Given the description of an element on the screen output the (x, y) to click on. 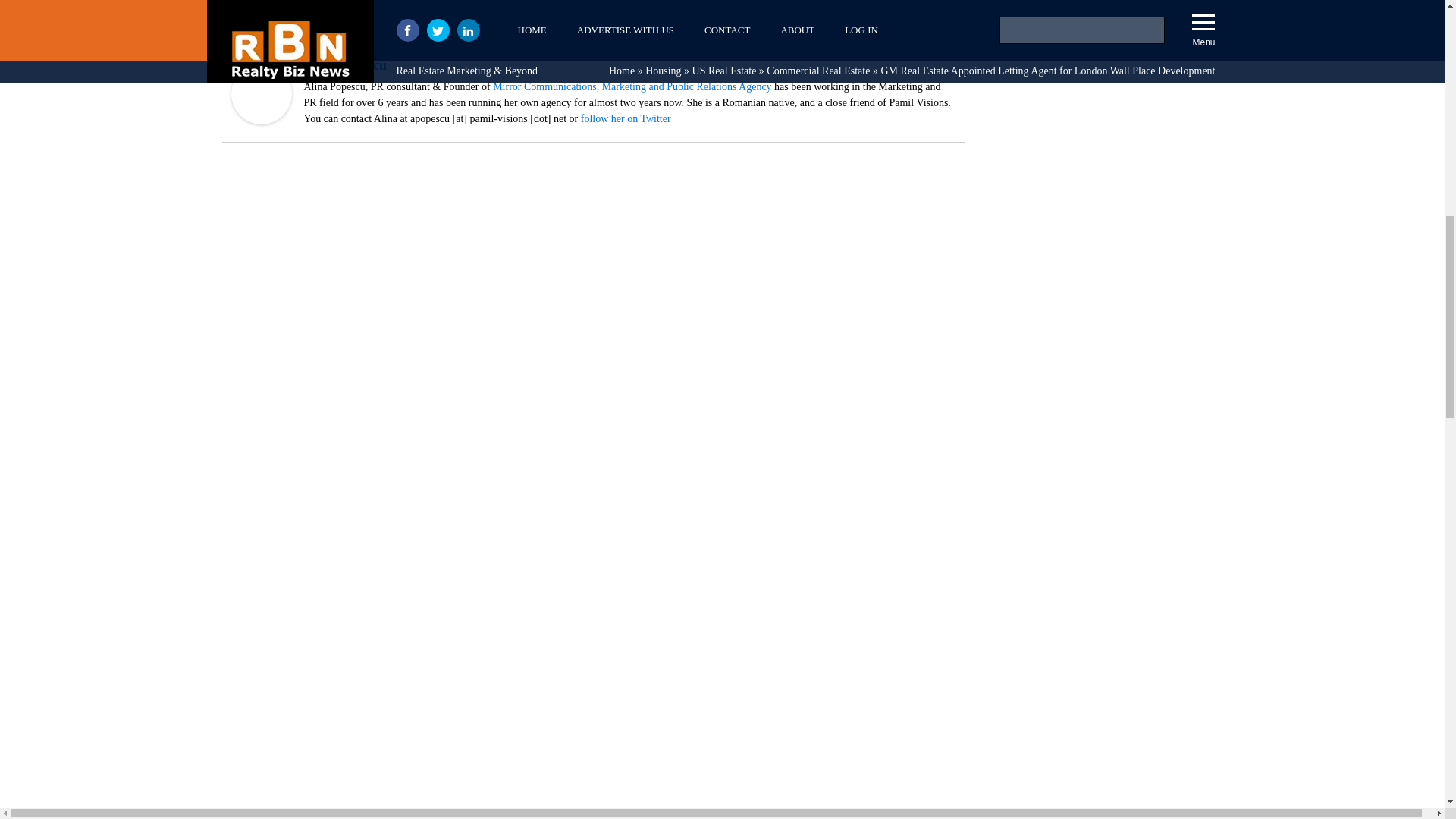
Alina Popescu (260, 119)
